Given the description of an element on the screen output the (x, y) to click on. 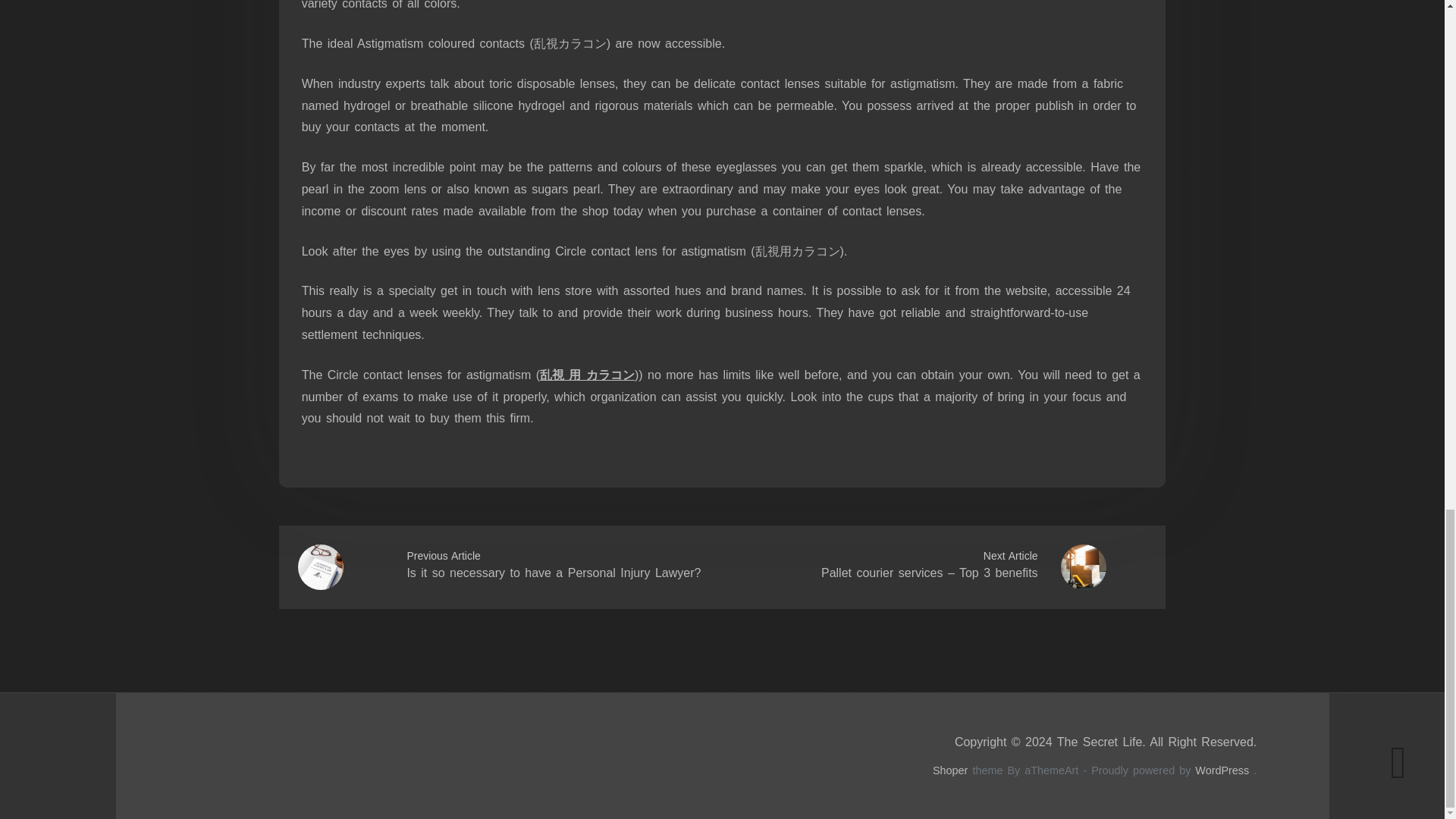
Shoper (950, 770)
WordPress (1222, 770)
Is it so necessary to have a Personal Injury Lawyer? (553, 572)
